Given the description of an element on the screen output the (x, y) to click on. 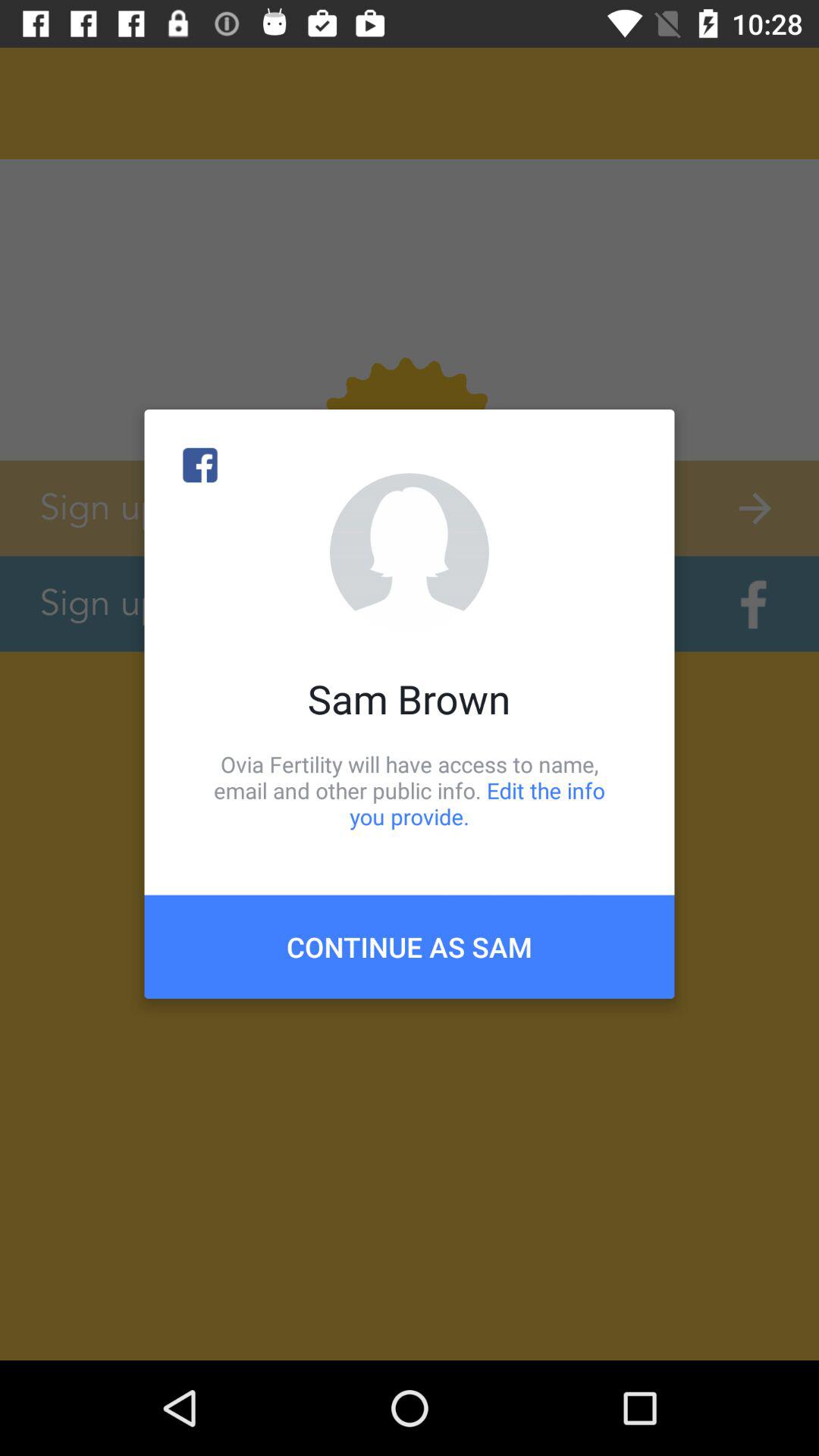
press the ovia fertility will (409, 790)
